Given the description of an element on the screen output the (x, y) to click on. 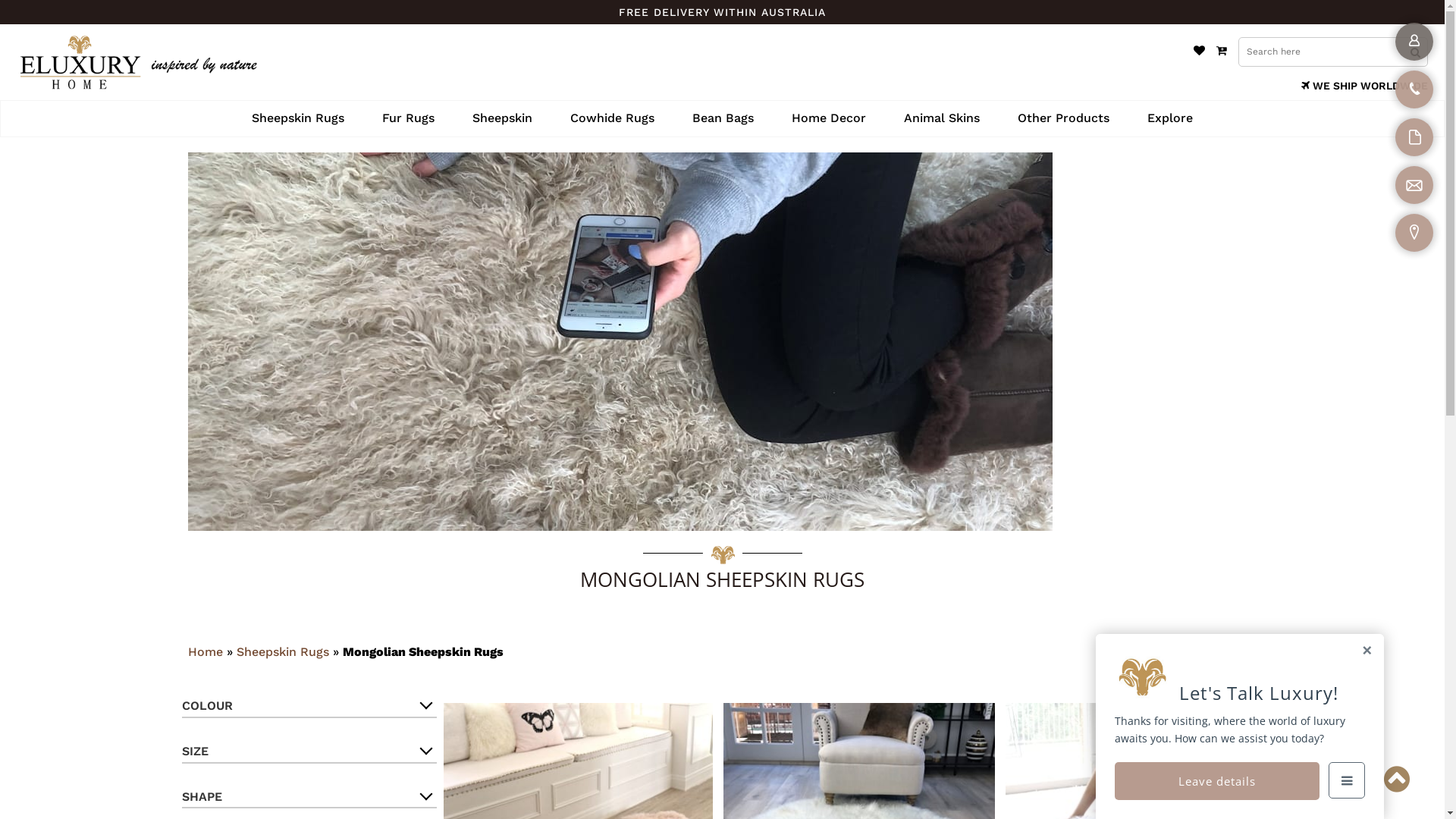
Sheepskin Element type: text (502, 118)
Sheepskin Rugs Element type: text (282, 651)
Cowhide Rugs Element type: text (612, 118)
Sheepskin Rugs Element type: text (297, 118)
Home Decor Element type: text (828, 118)
Leave details Element type: text (1216, 781)
Fur Rugs Element type: text (408, 118)
Other Products Element type: text (1063, 118)
Animal Skins Element type: text (941, 118)
Bean Bags Element type: text (722, 118)
Home Element type: text (205, 651)
Explore Element type: text (1169, 118)
